Given the description of an element on the screen output the (x, y) to click on. 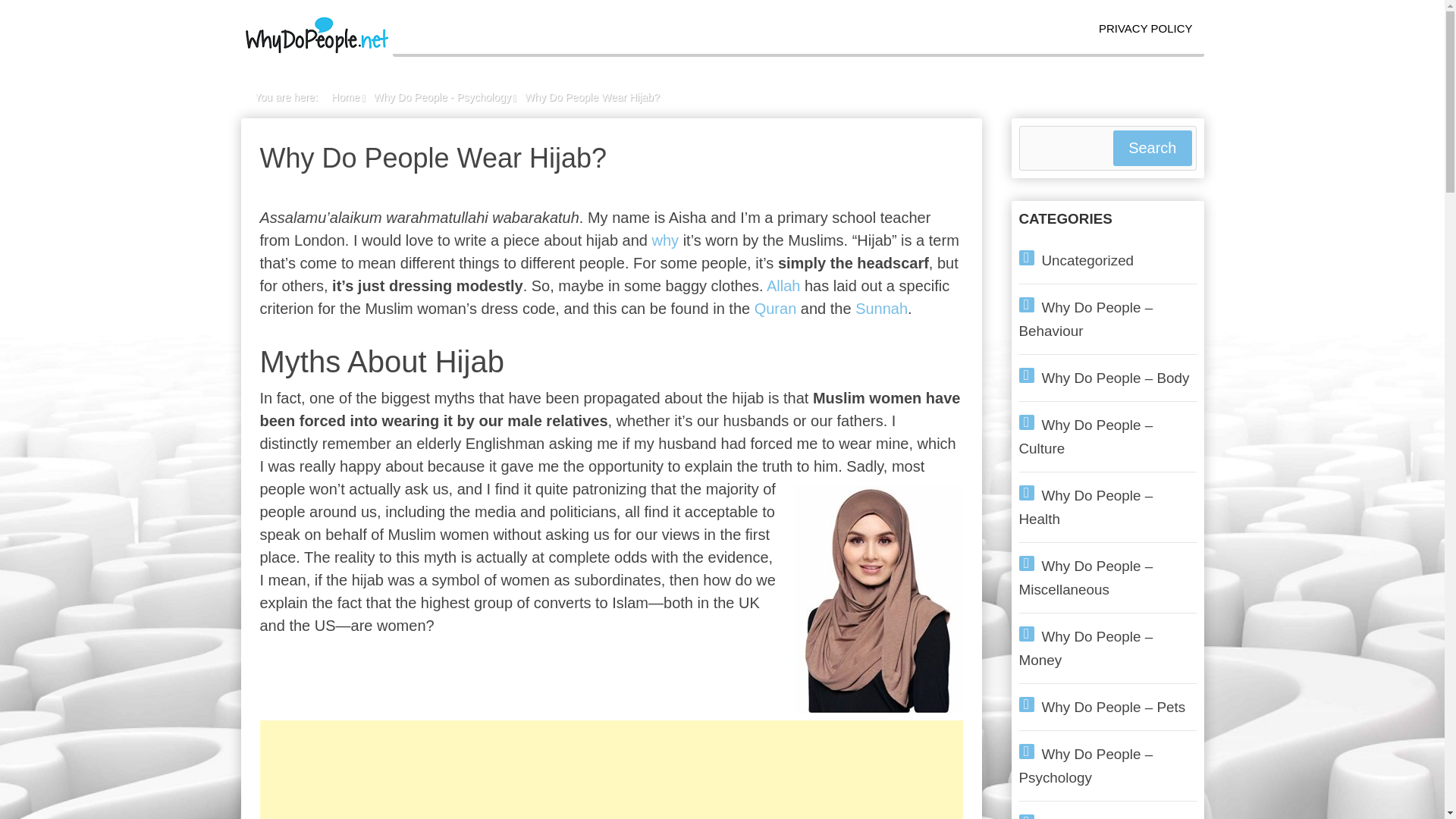
Allah (783, 285)
Search (1152, 148)
Sunnah (881, 308)
why (665, 239)
Quran (775, 308)
Home (345, 96)
Uncategorized (1088, 260)
Why Do People - Psychology (441, 96)
Advertisement (610, 769)
PRIVACY POLICY (1145, 28)
